Given the description of an element on the screen output the (x, y) to click on. 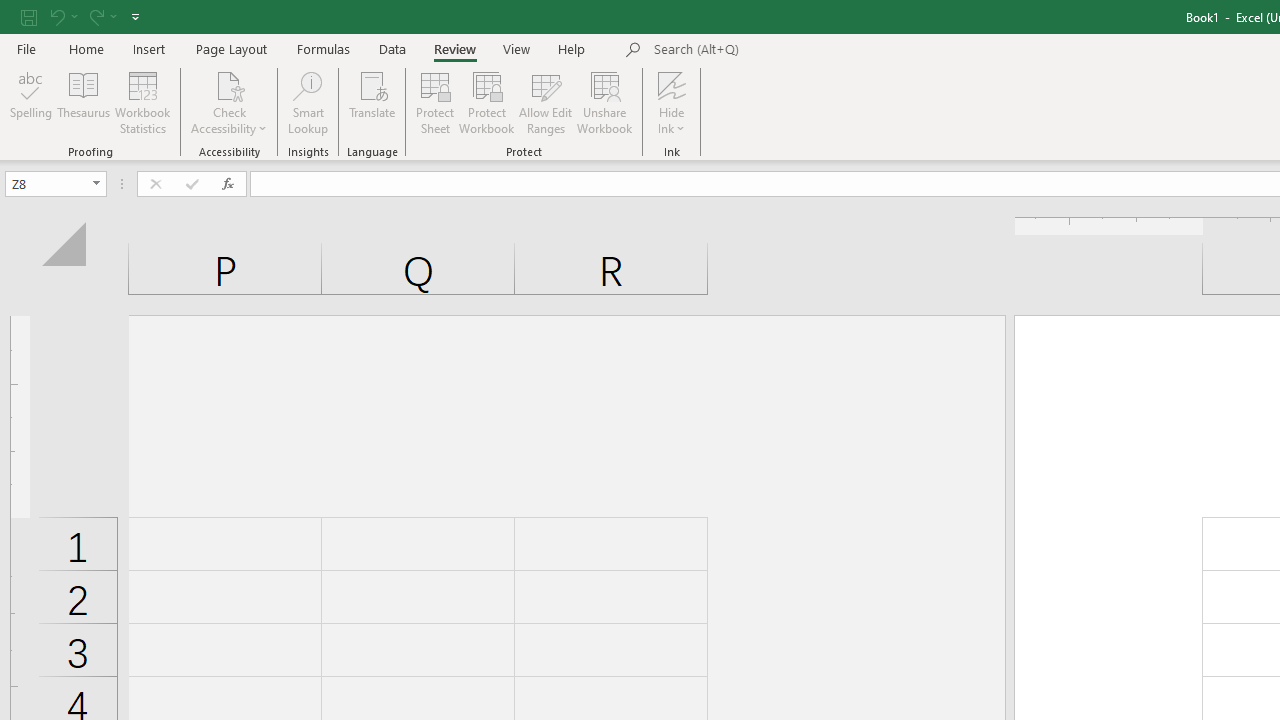
Check Accessibility (229, 102)
Thesaurus... (83, 102)
Smart Lookup (308, 102)
Allow Edit Ranges (545, 102)
